Given the description of an element on the screen output the (x, y) to click on. 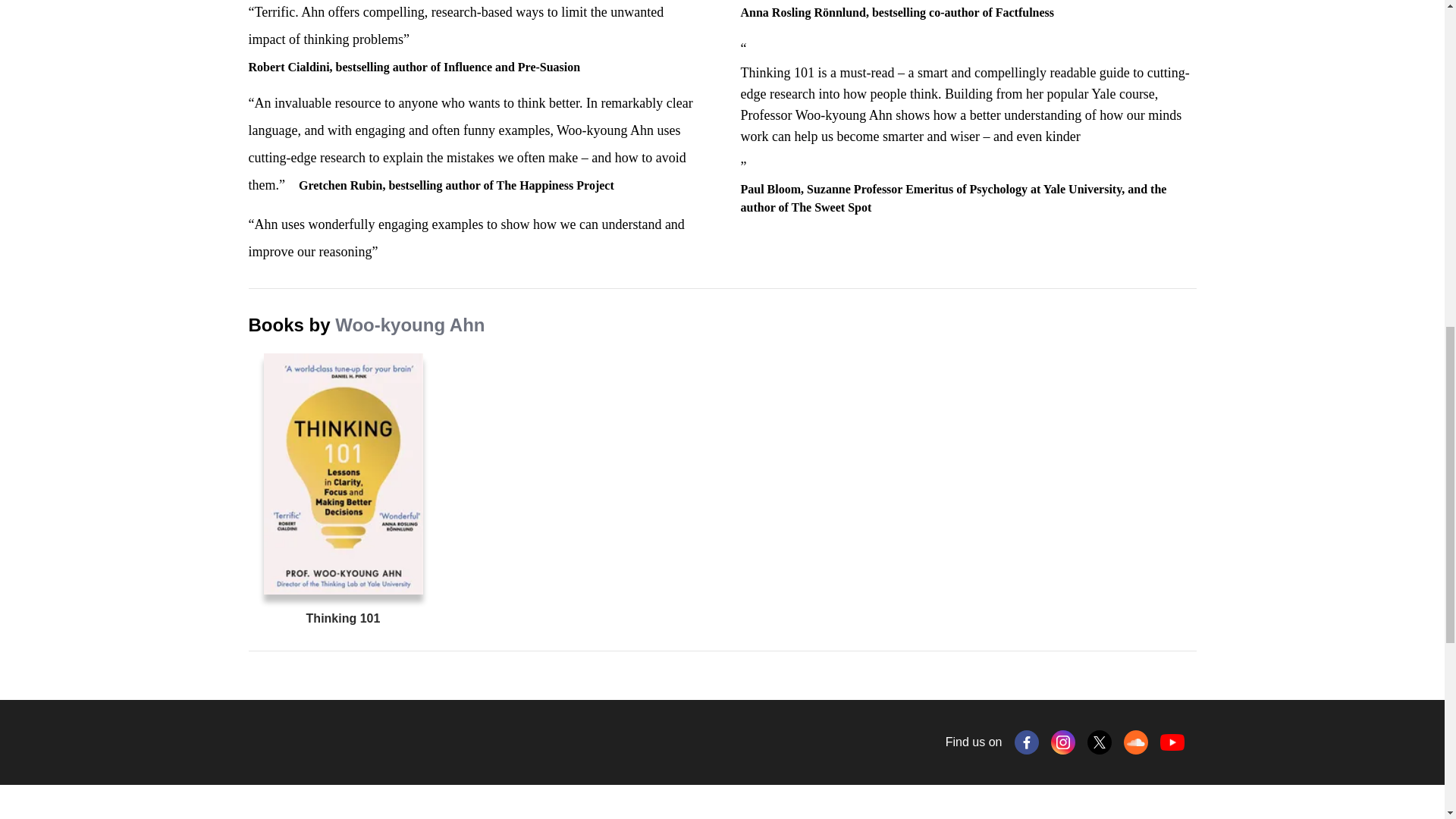
SoundCloud (1136, 742)
Instagram (1063, 742)
YouTube (1172, 742)
Facebook (1026, 742)
